Given the description of an element on the screen output the (x, y) to click on. 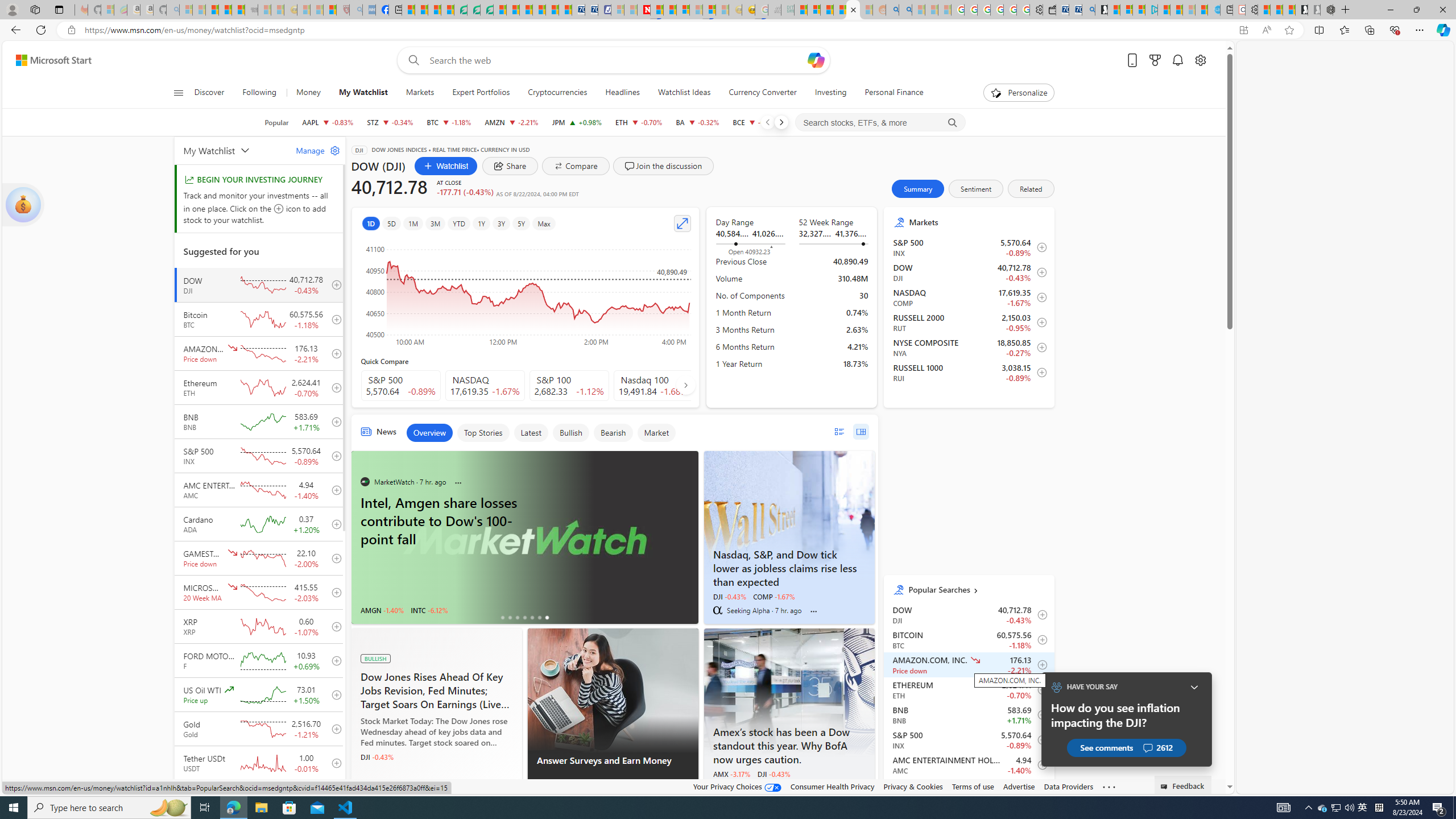
Wallet (1049, 9)
Personalize (1019, 92)
Open settings (1199, 60)
Class: oneFooter_seeMore-DS-EntryPoint1-1 (1108, 786)
Utah sues federal government - Search (905, 9)
Latest Politics News & Archive | Newsweek.com (643, 9)
Add to Watchlist (1039, 790)
